Given the description of an element on the screen output the (x, y) to click on. 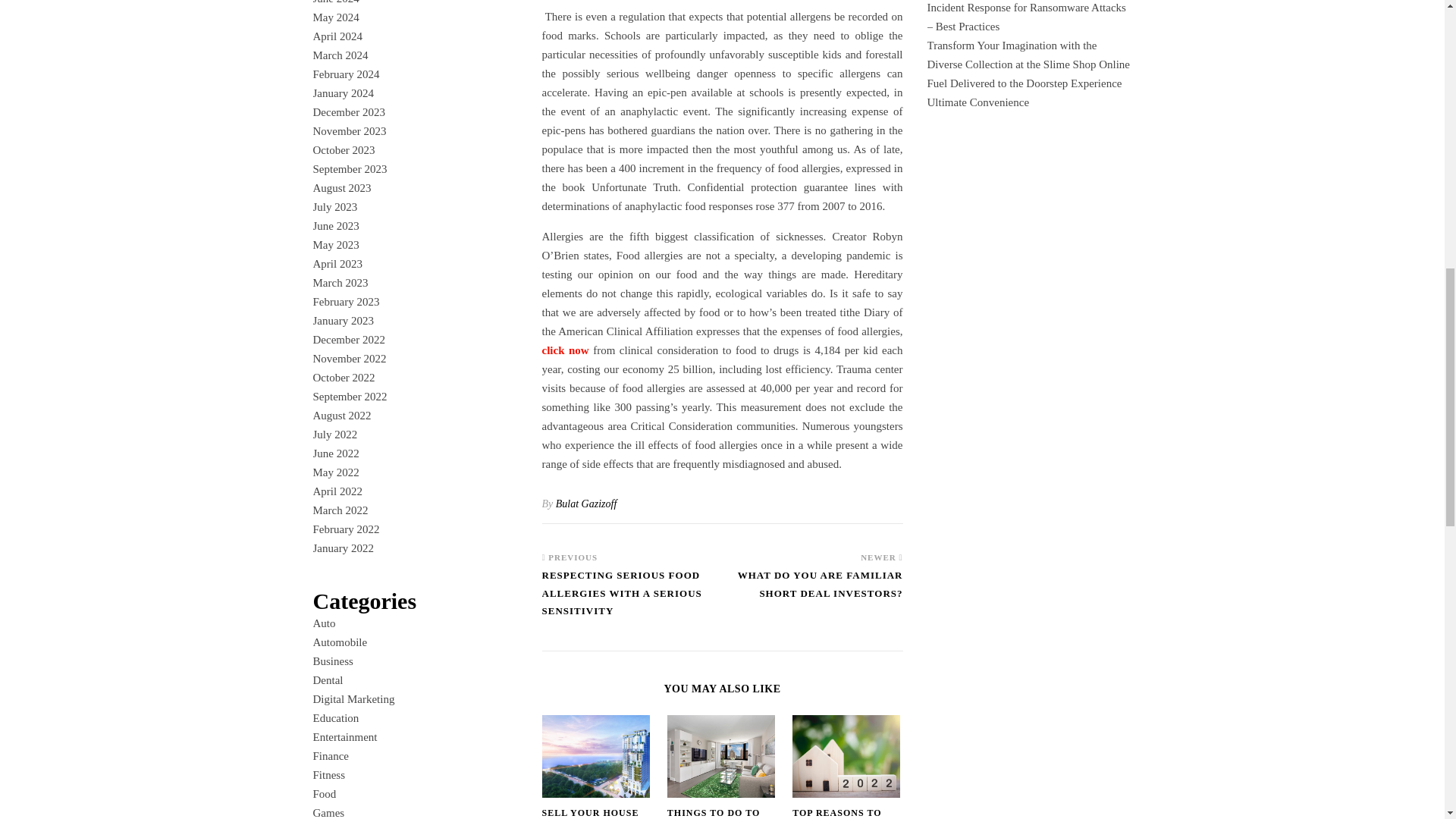
June 2022 (335, 453)
June 2024 (335, 2)
April 2023 (337, 263)
Posts by Bulat Gazizoff (586, 503)
October 2023 (343, 150)
August 2022 (342, 415)
November 2023 (349, 131)
February 2022 (345, 529)
April 2024 (337, 36)
February 2024 (345, 73)
September 2022 (350, 396)
February 2023 (345, 301)
April 2022 (337, 491)
August 2023 (342, 187)
January 2023 (342, 320)
